Given the description of an element on the screen output the (x, y) to click on. 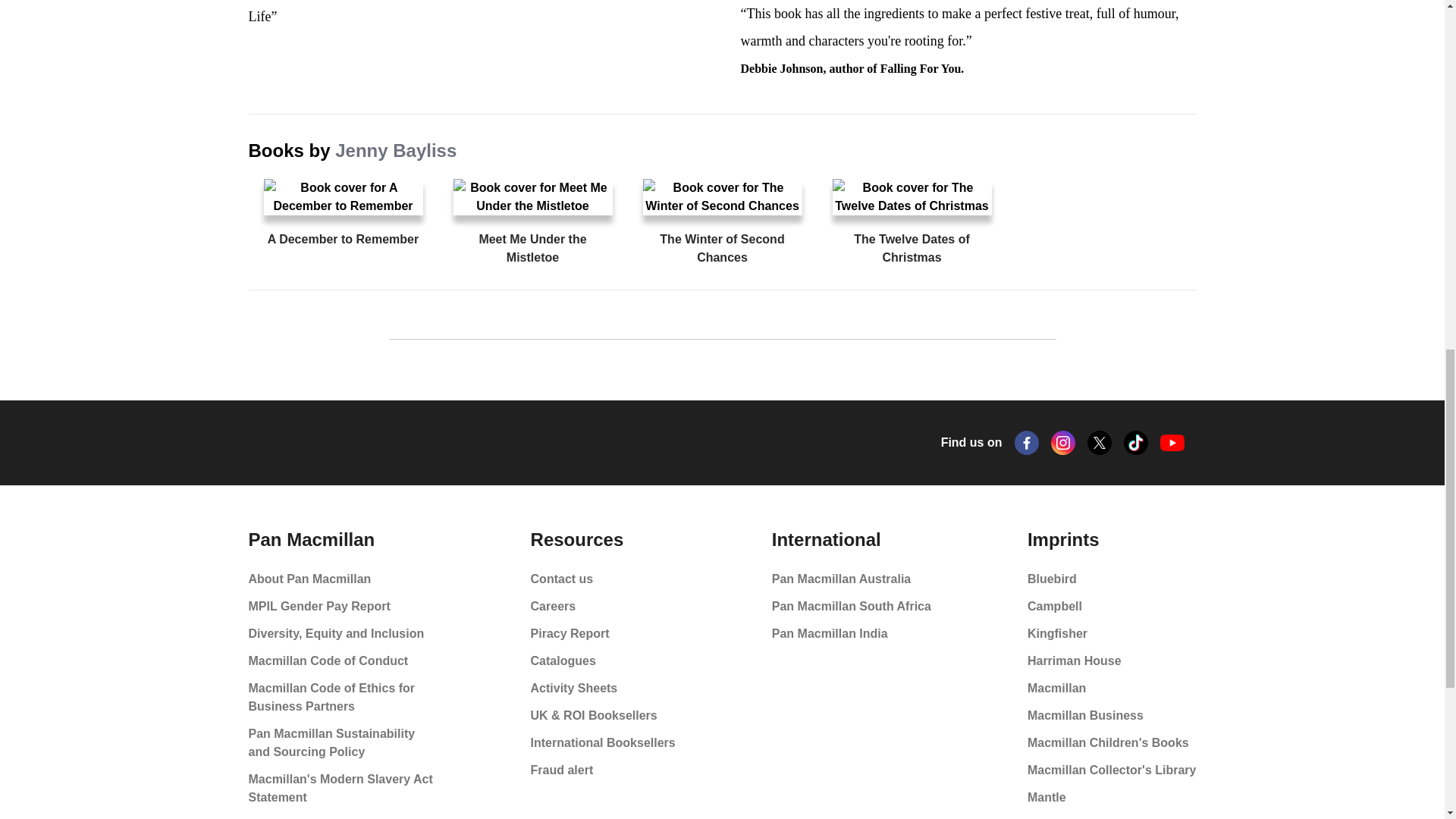
YouTube (1172, 443)
TikTok (1136, 442)
Instagram (1063, 442)
Facebook (1026, 442)
